Given the description of an element on the screen output the (x, y) to click on. 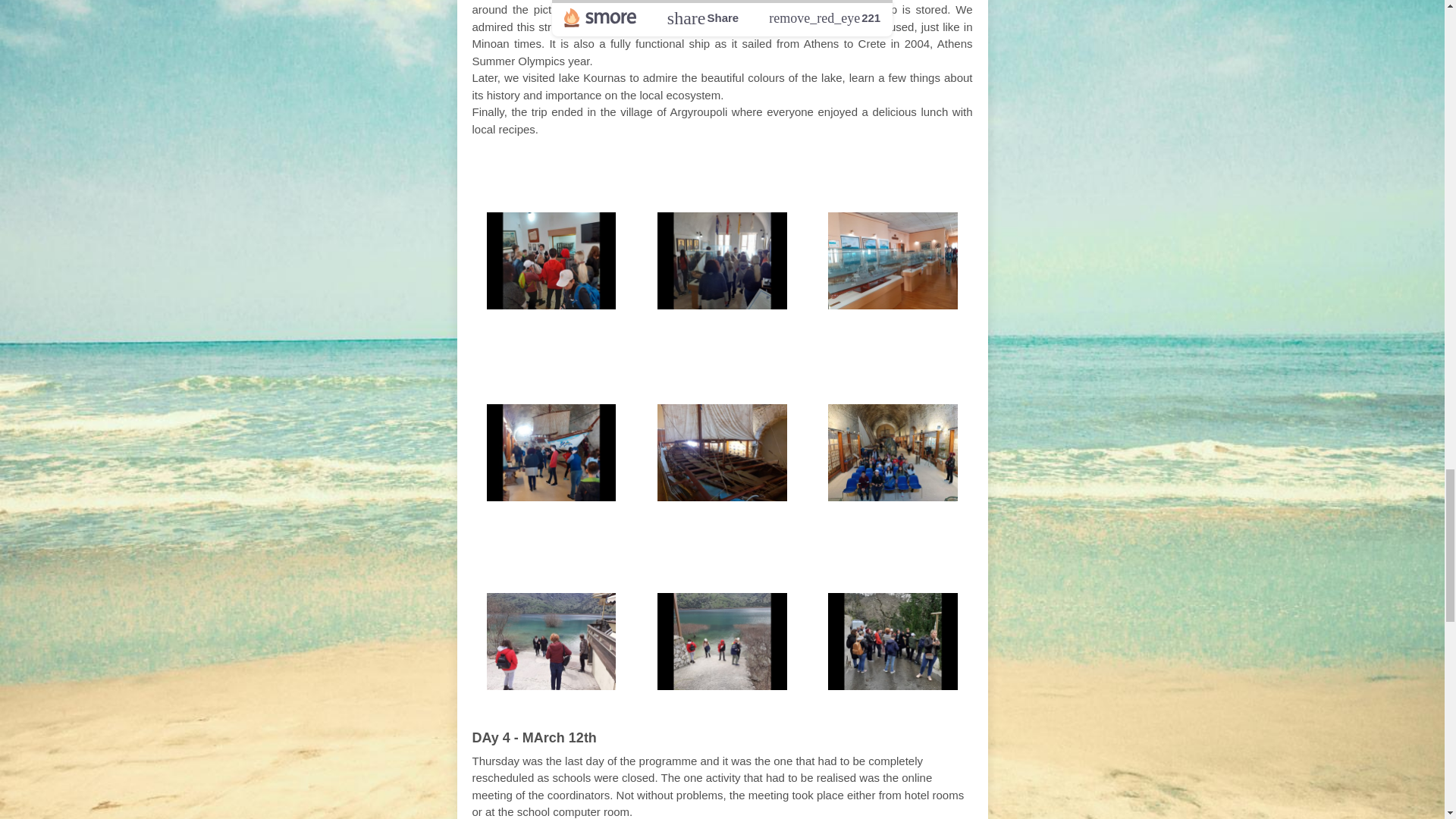
lake (680, 552)
at (780, 171)
Chania (830, 171)
kournas (744, 552)
ship (764, 360)
Minoan (700, 360)
Maritime (625, 171)
Museum (721, 171)
